Given the description of an element on the screen output the (x, y) to click on. 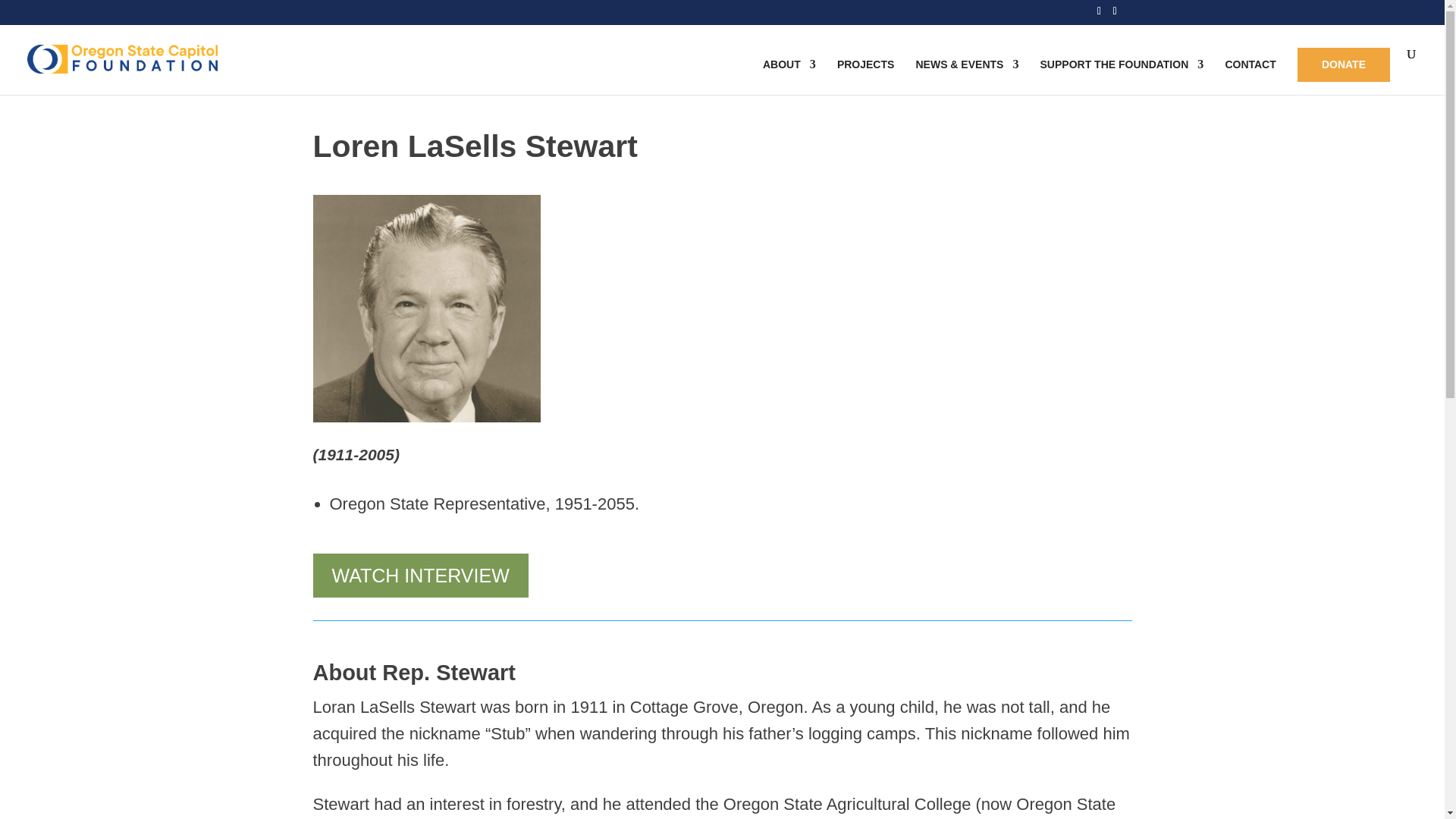
CONTACT (1249, 76)
STEWART,-LORAN-L-300x300 (426, 308)
WATCH INTERVIEW (420, 575)
PROJECTS (865, 76)
SUPPORT THE FOUNDATION (1122, 76)
ABOUT (788, 76)
DONATE (1343, 64)
